Given the description of an element on the screen output the (x, y) to click on. 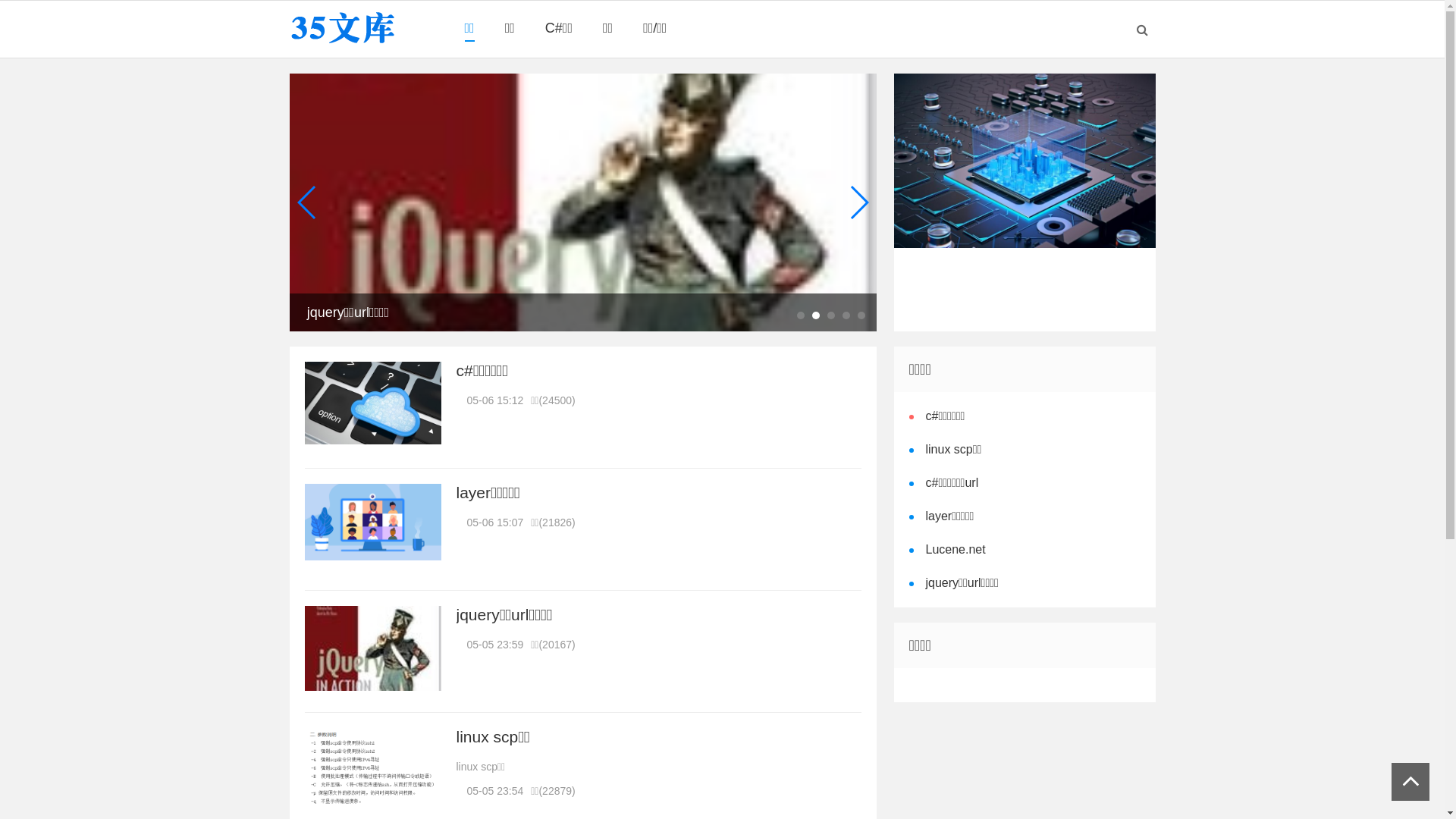
Lucene.net Element type: text (952, 548)
